Given the description of an element on the screen output the (x, y) to click on. 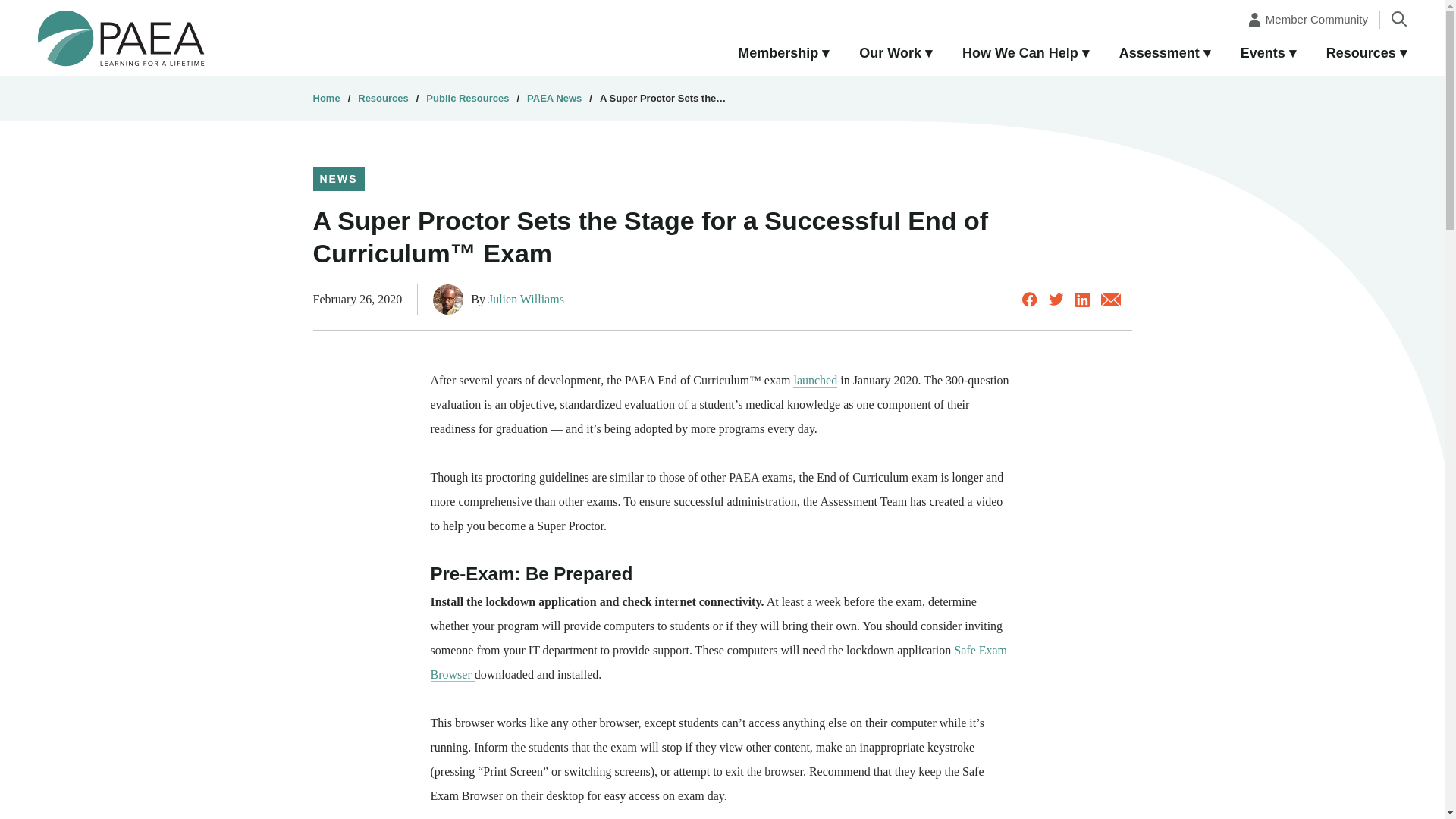
homepage (121, 37)
Membership (783, 53)
Our Work (895, 53)
